Given the description of an element on the screen output the (x, y) to click on. 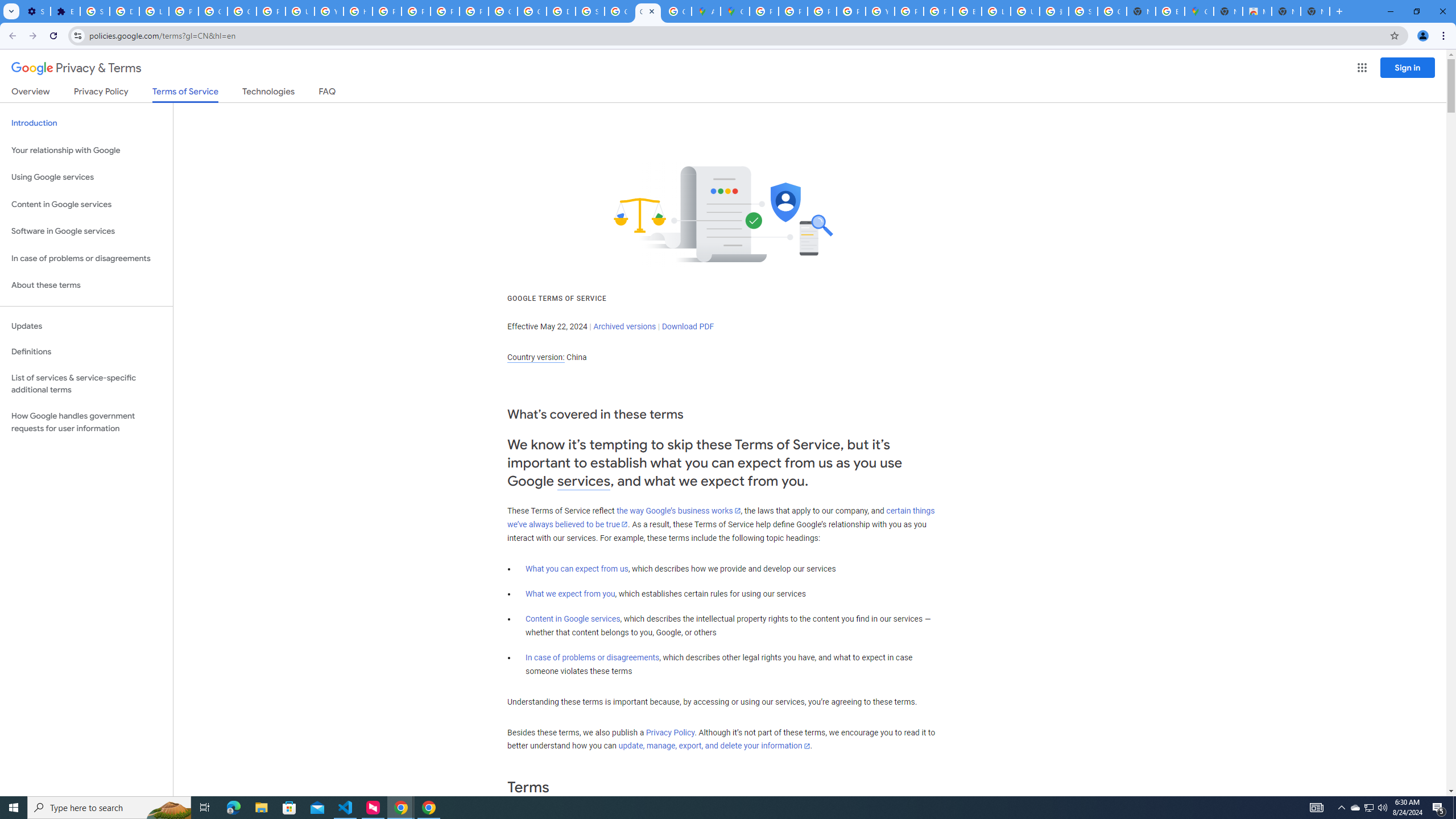
Delete photos & videos - Computer - Google Photos Help (124, 11)
Sign in - Google Accounts (1082, 11)
https://scholar.google.com/ (357, 11)
Create your Google Account (677, 11)
Settings - On startup (35, 11)
